Given the description of an element on the screen output the (x, y) to click on. 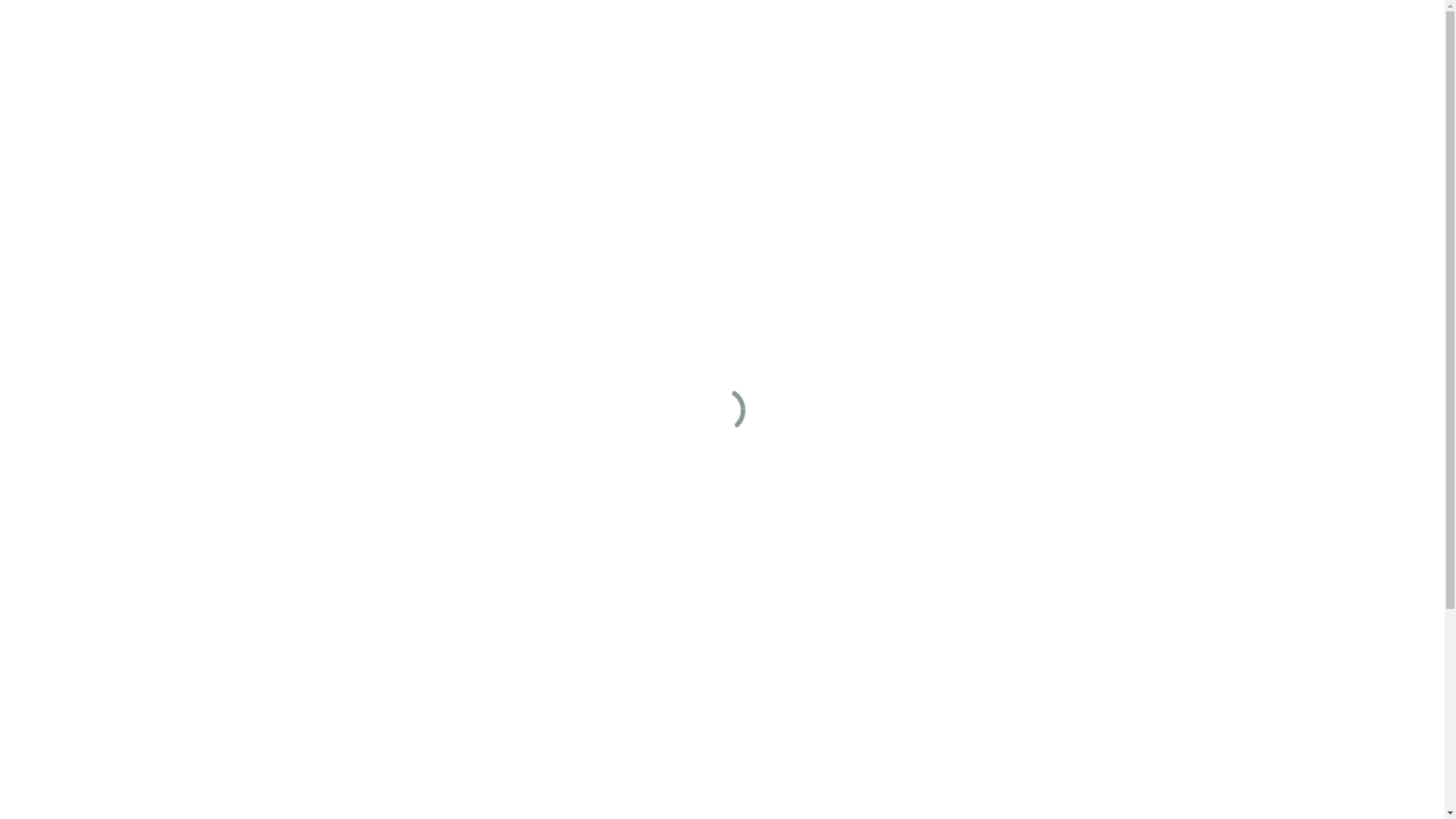
Contact Element type: text (1065, 77)
BACK HOME Element type: text (721, 578)
Blogs & FAQs Element type: text (994, 77)
Chiropractic Care Element type: text (900, 77)
About Us Element type: text (817, 77)
Home Element type: text (721, 804)
Home Element type: text (763, 77)
Book Online Element type: text (1147, 77)
